Given the description of an element on the screen output the (x, y) to click on. 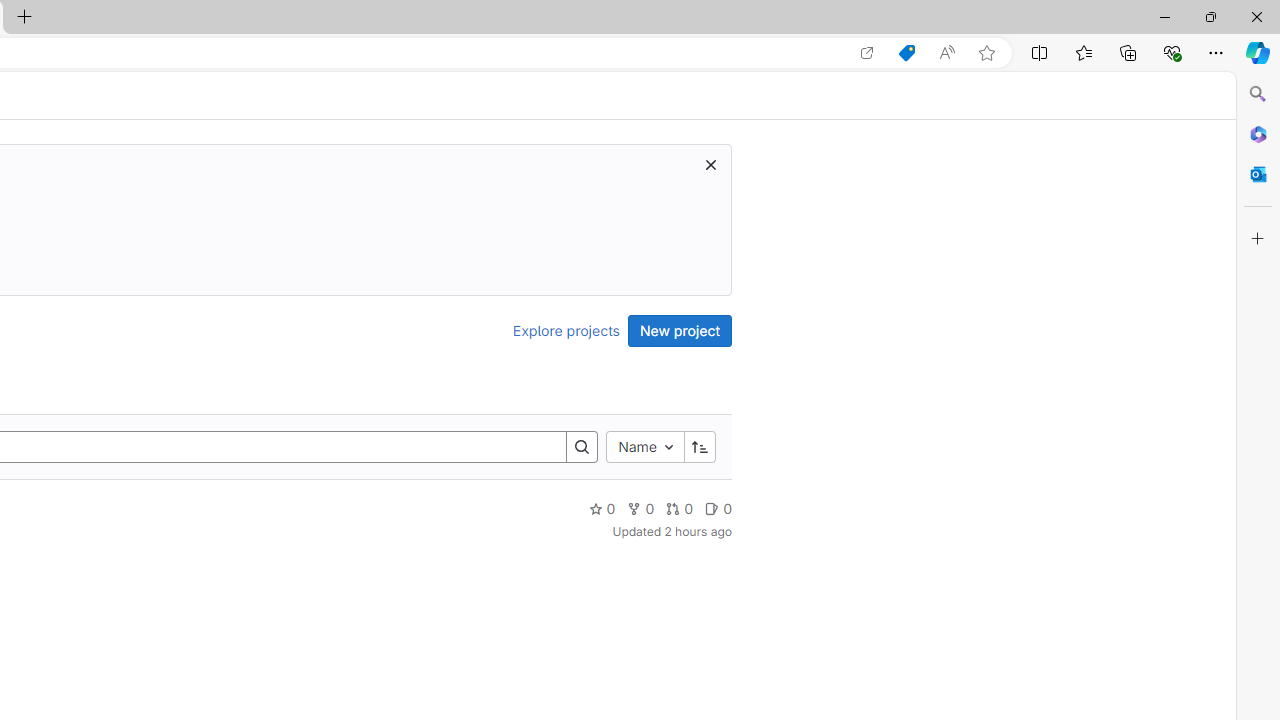
Dismiss trial promotion (710, 164)
0 (718, 508)
New project (680, 330)
Explore projects (565, 330)
Class: s16 gl-icon gl-button-icon  (710, 164)
Open in app (867, 53)
